Given the description of an element on the screen output the (x, y) to click on. 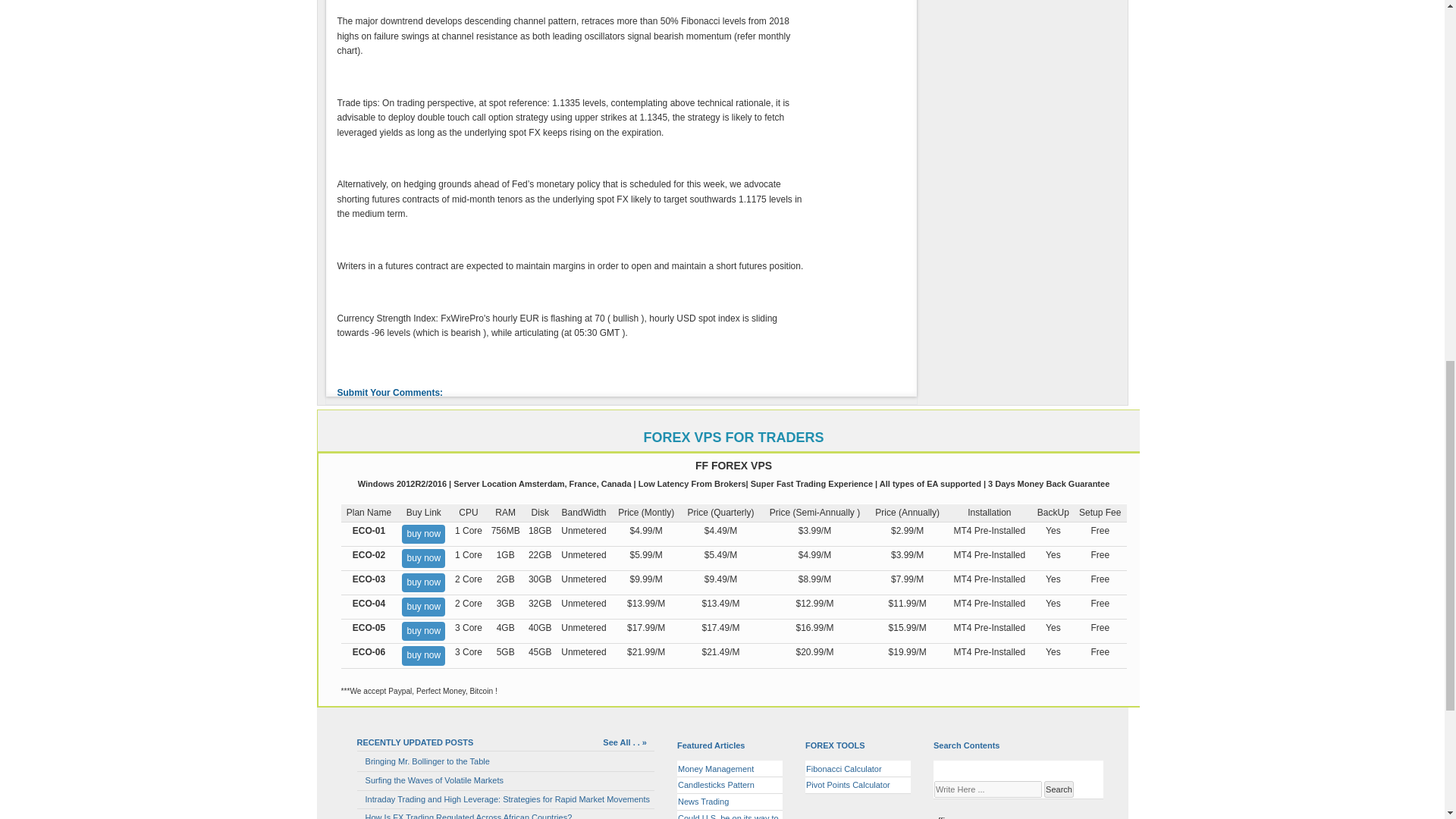
button (359, 761)
button (359, 780)
button (359, 799)
Search (1058, 789)
